Given the description of an element on the screen output the (x, y) to click on. 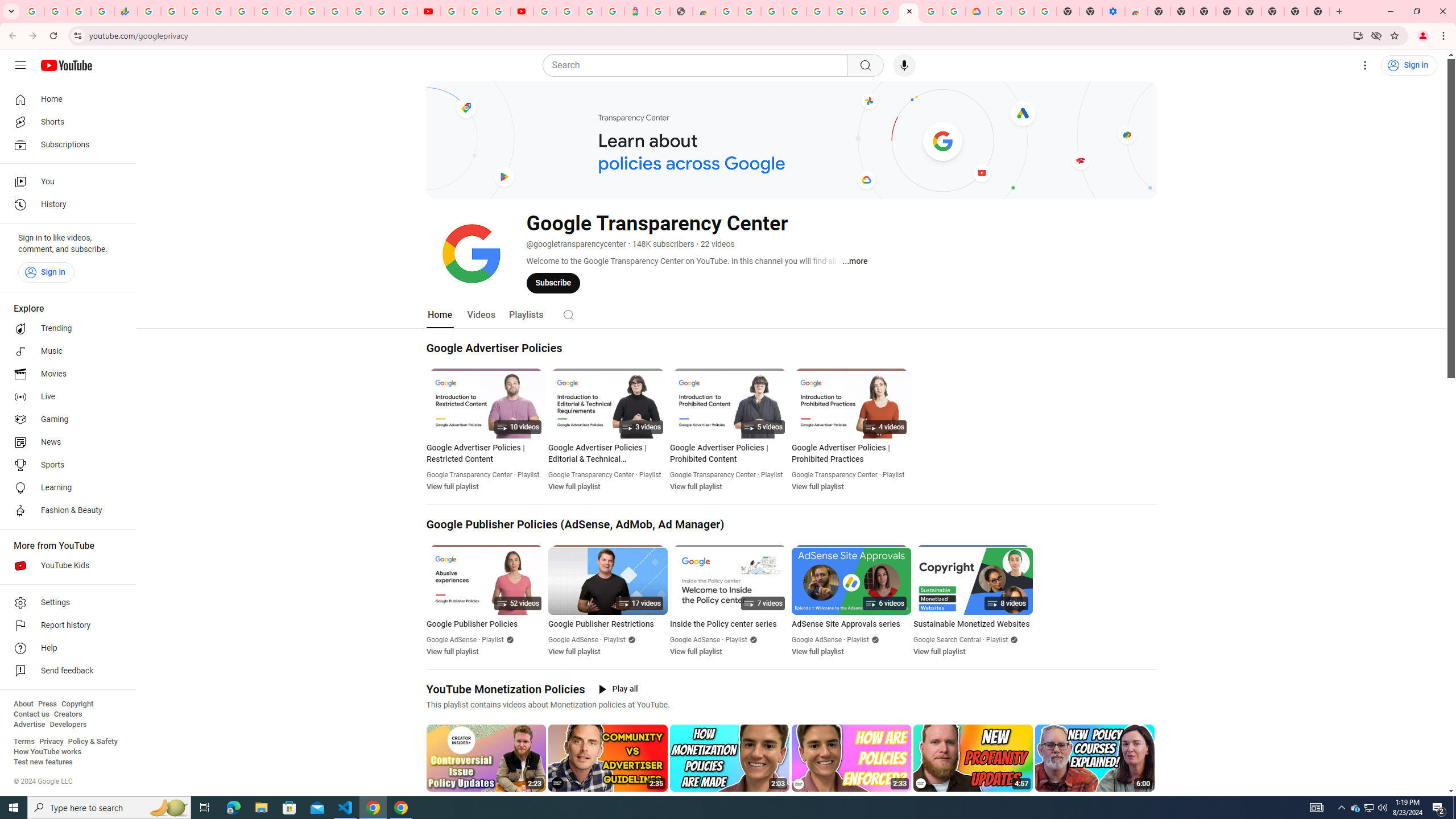
Chrome Web Store - Accessibility extensions (1136, 11)
Gaming (64, 419)
Home (64, 99)
AdSense Site Approvals series (850, 624)
Search (697, 65)
Google AdSense (816, 639)
Sign in - Google Accounts (381, 11)
YouTube Monetization Policies (505, 688)
Playlists (525, 314)
